Given the description of an element on the screen output the (x, y) to click on. 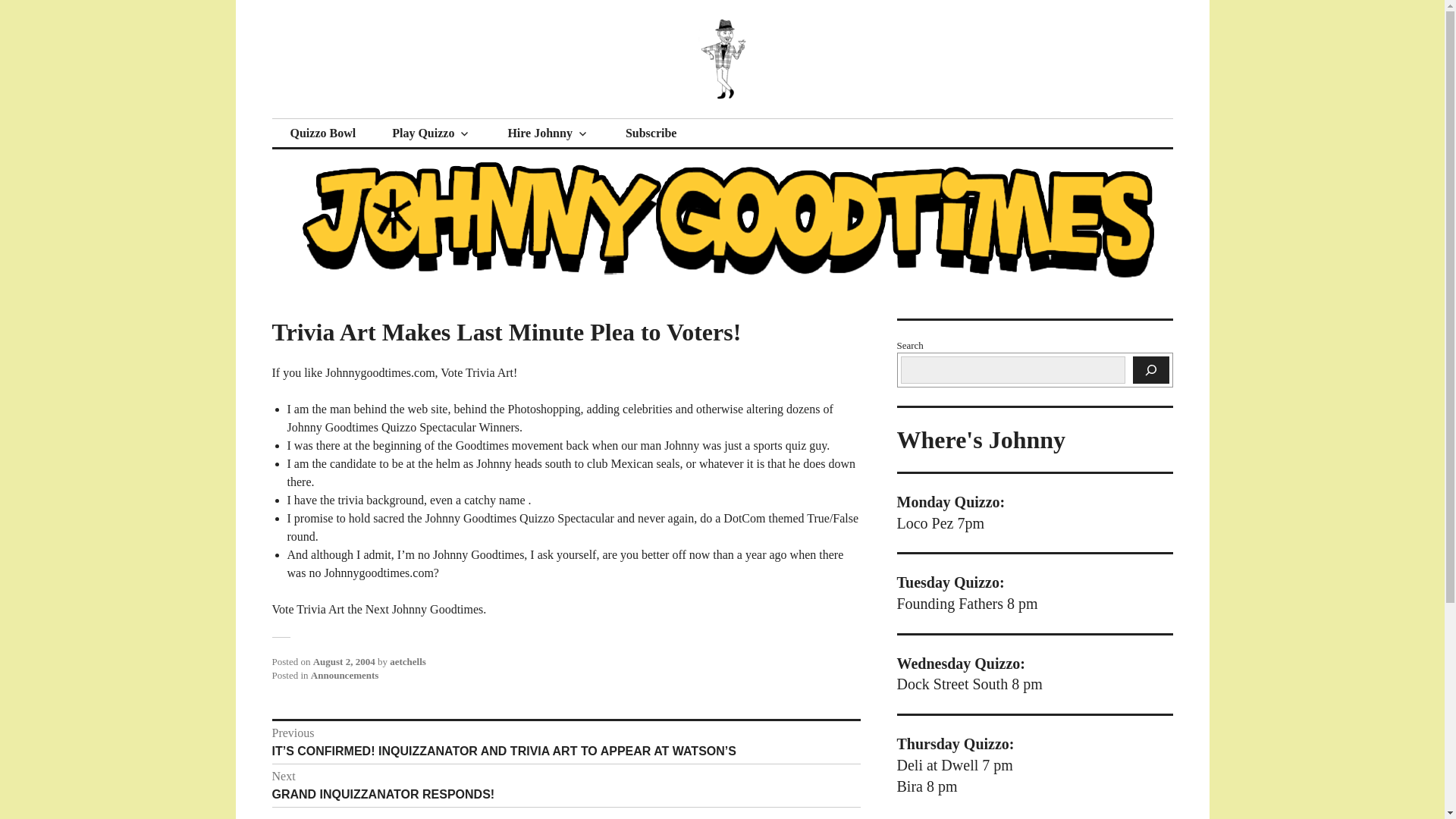
Johnny Goodtimes (565, 785)
Announcements (392, 117)
Sign up for the Johnny Goodtimes Email Newsletter (344, 674)
aetchells (651, 133)
Quizzo Bowl (408, 661)
Hire Johnny (322, 133)
August 2, 2004 (548, 133)
Subscribe (344, 661)
Play Quizzo (651, 133)
